Given the description of an element on the screen output the (x, y) to click on. 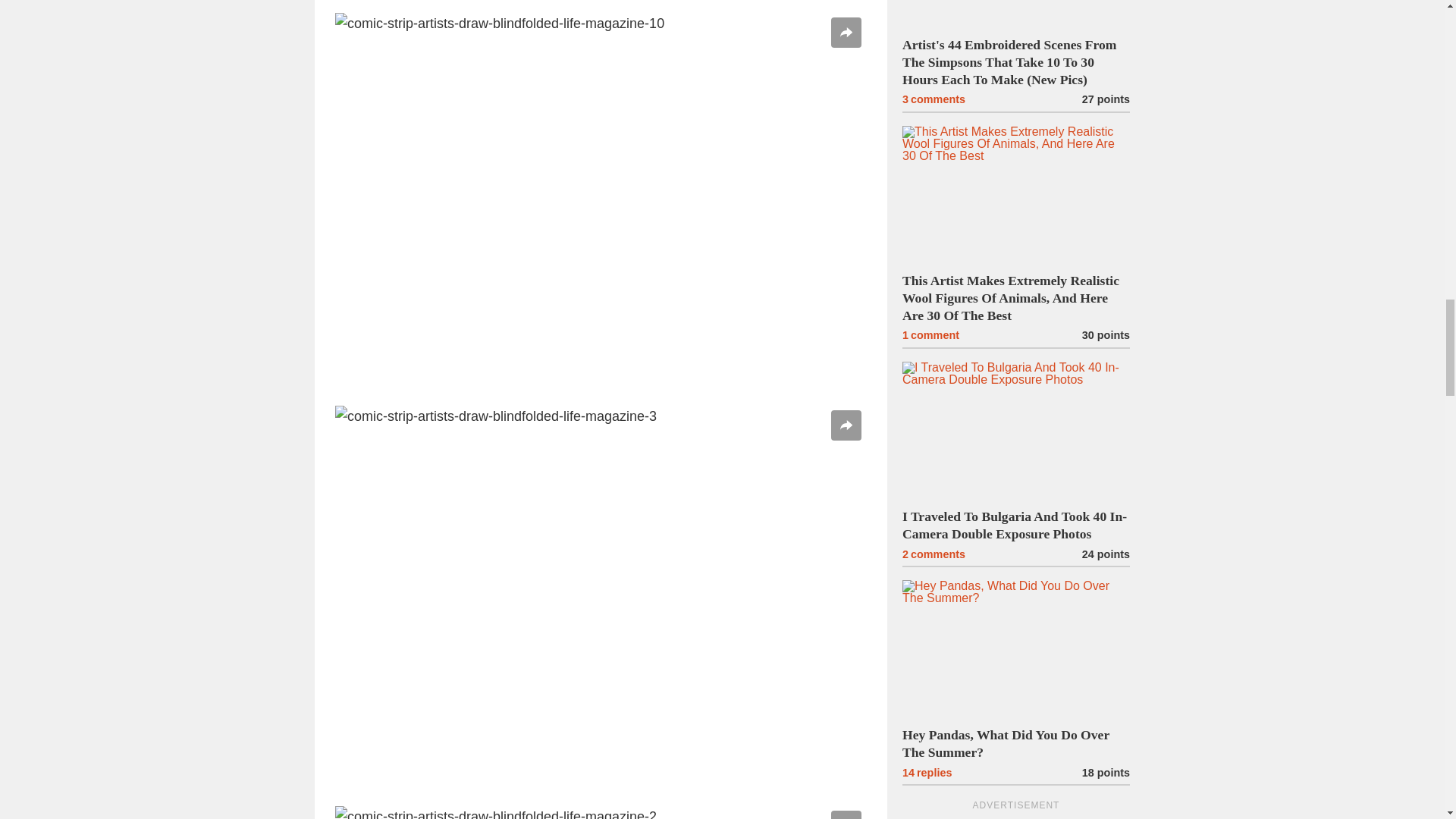
Share icon (845, 425)
comic-strip-artists-draw-blindfolded-life-magazine-2 (600, 812)
Share icon (845, 32)
